Given the description of an element on the screen output the (x, y) to click on. 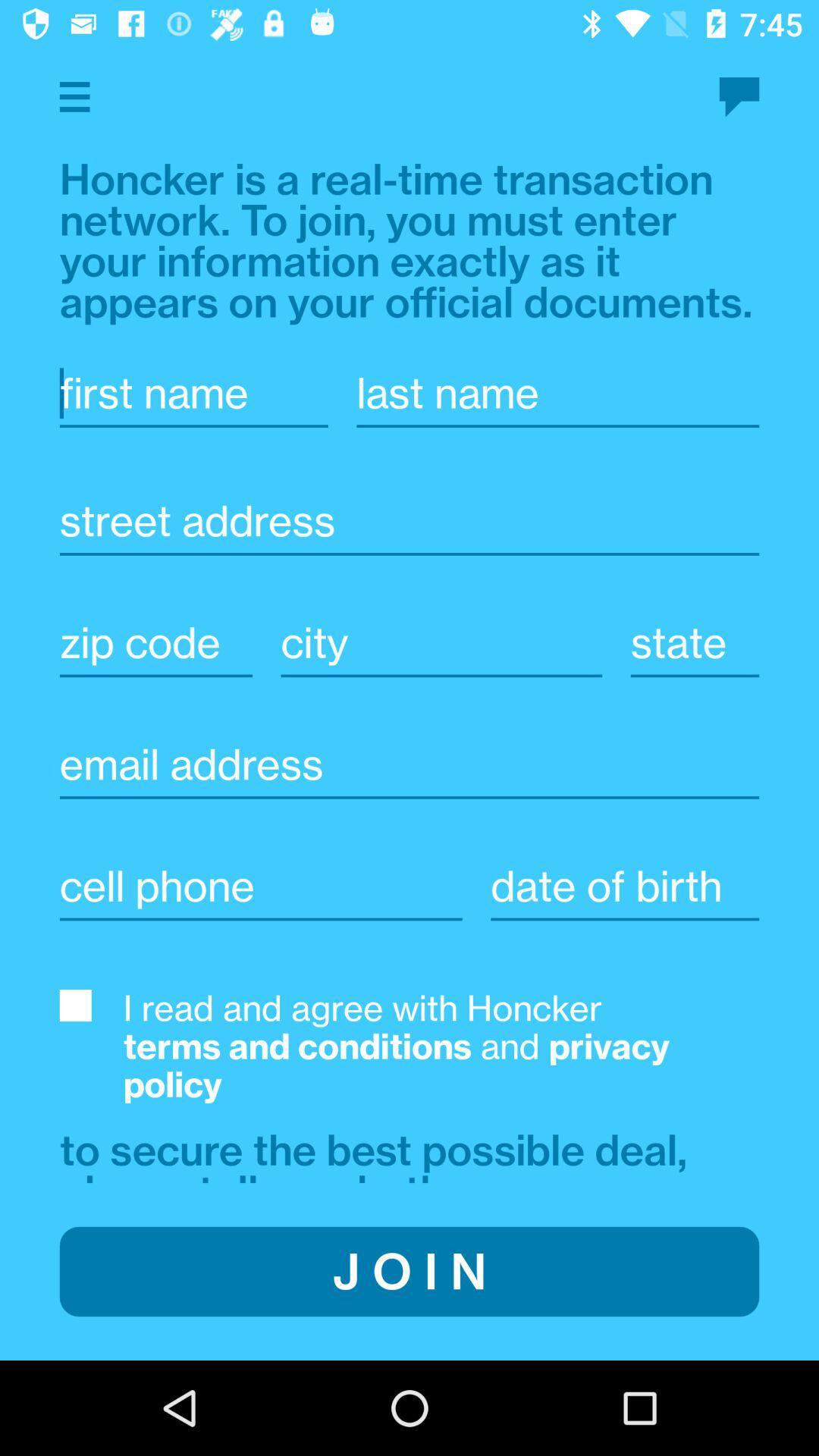
you have a email notification (739, 97)
